Given the description of an element on the screen output the (x, y) to click on. 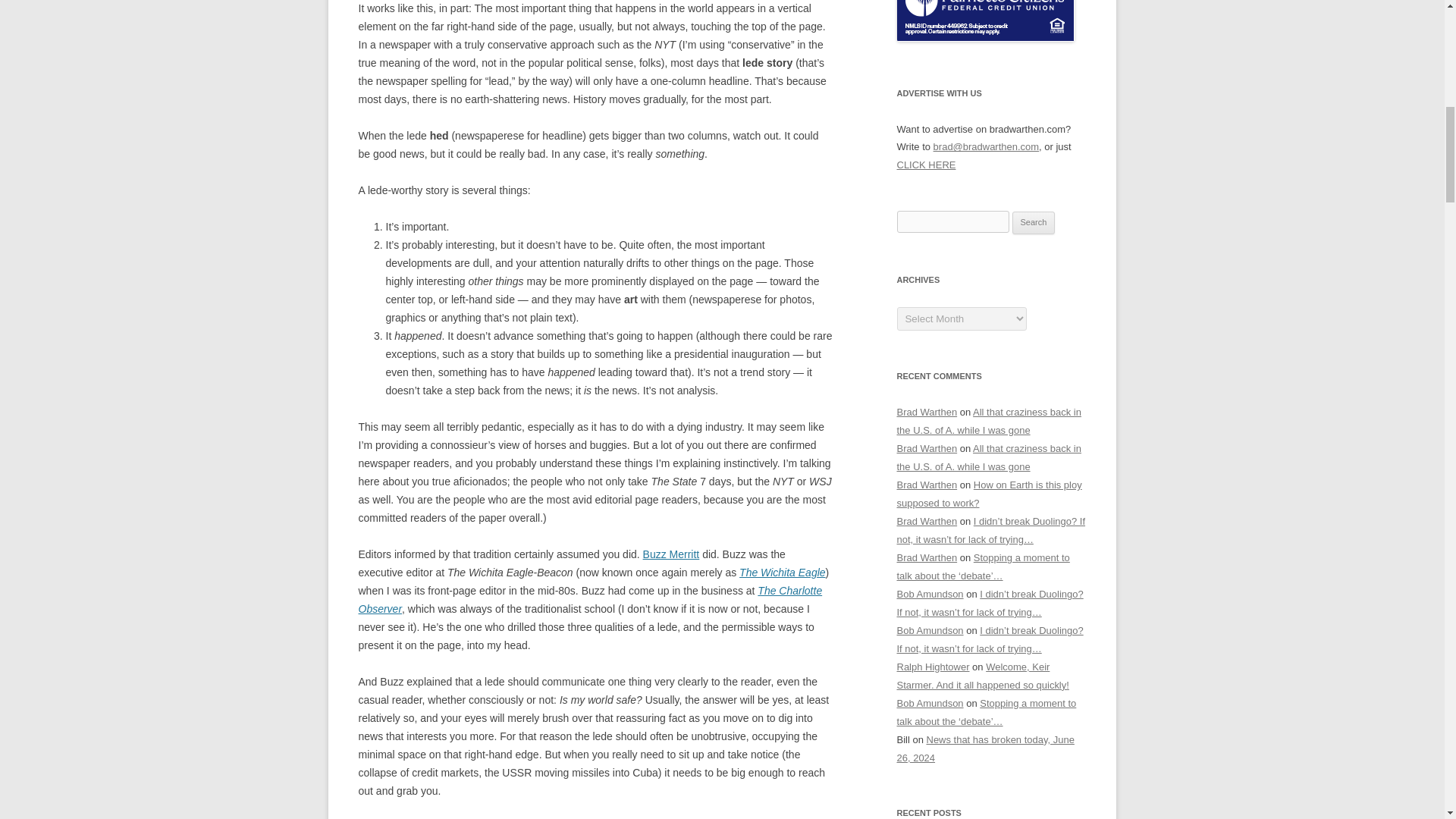
The Wichita Eagle (782, 572)
The Charlotte Observer (590, 599)
Search (1033, 222)
Buzz Merritt (671, 553)
